Given the description of an element on the screen output the (x, y) to click on. 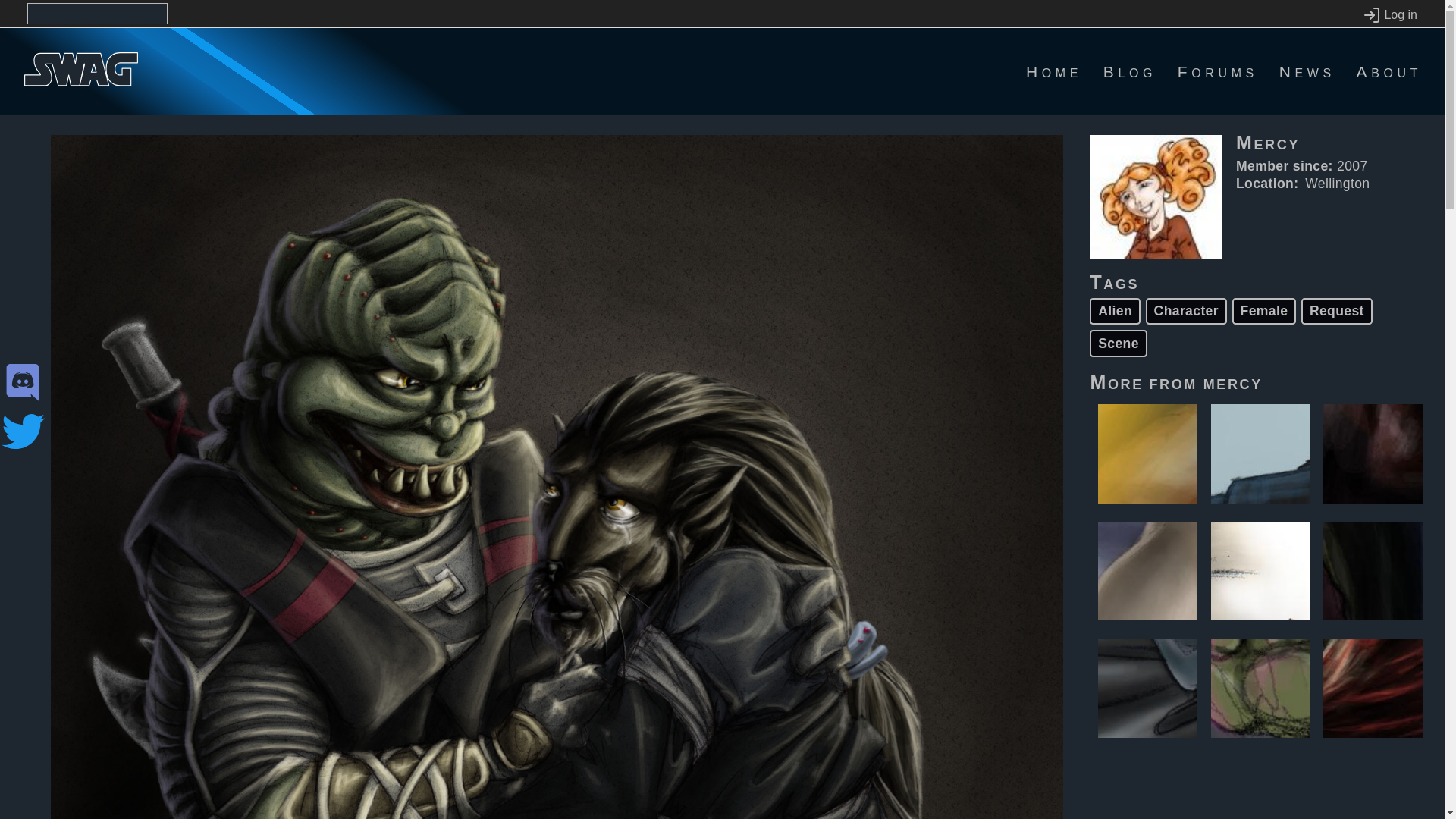
Home (1053, 71)
About (1389, 71)
Log in (1389, 14)
Blog (1129, 71)
View user profile. (1233, 382)
News (1307, 71)
Enter the terms you wish to search for. (97, 13)
Forums (1217, 71)
